Given the description of an element on the screen output the (x, y) to click on. 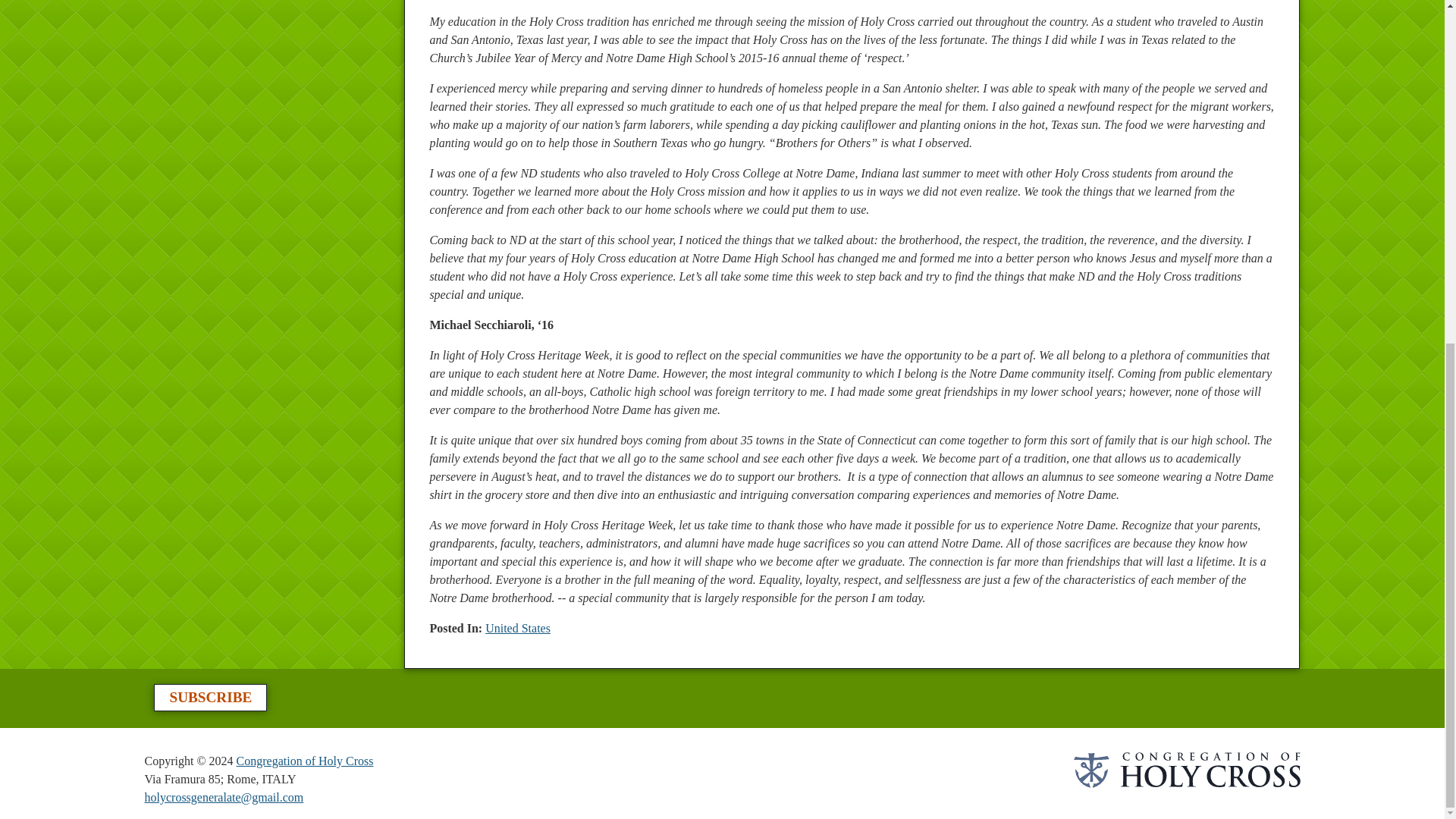
Congregation of Holy Cross (304, 760)
SUBSCRIBE (210, 697)
United States (517, 627)
